Given the description of an element on the screen output the (x, y) to click on. 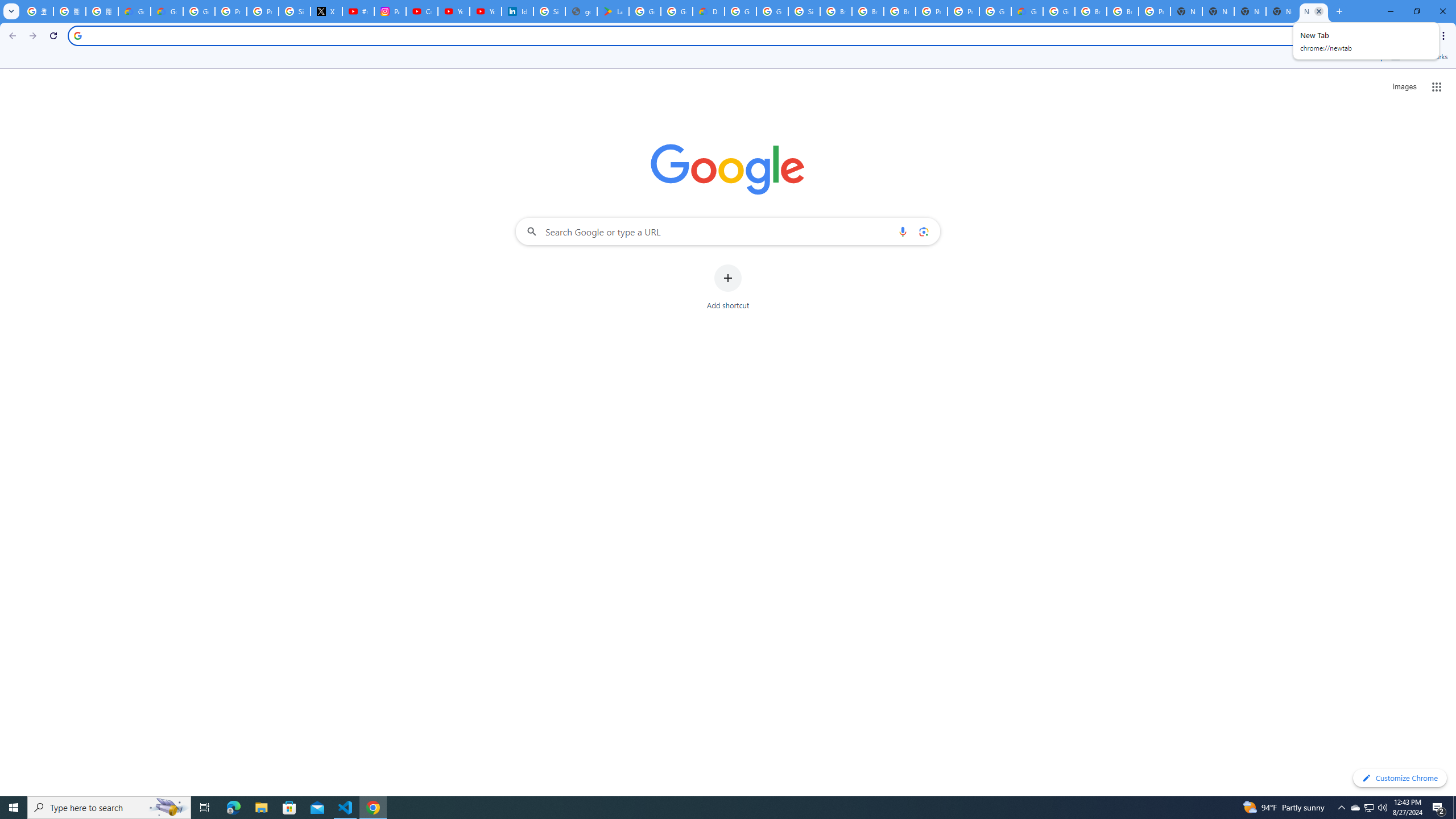
google_privacy_policy_en.pdf (581, 11)
Bookmarks (728, 58)
YouTube Culture & Trends - YouTube Top 10, 2021 (485, 11)
Search icon (77, 35)
X (326, 11)
Control your music, videos, and more (1402, 35)
